Given the description of an element on the screen output the (x, y) to click on. 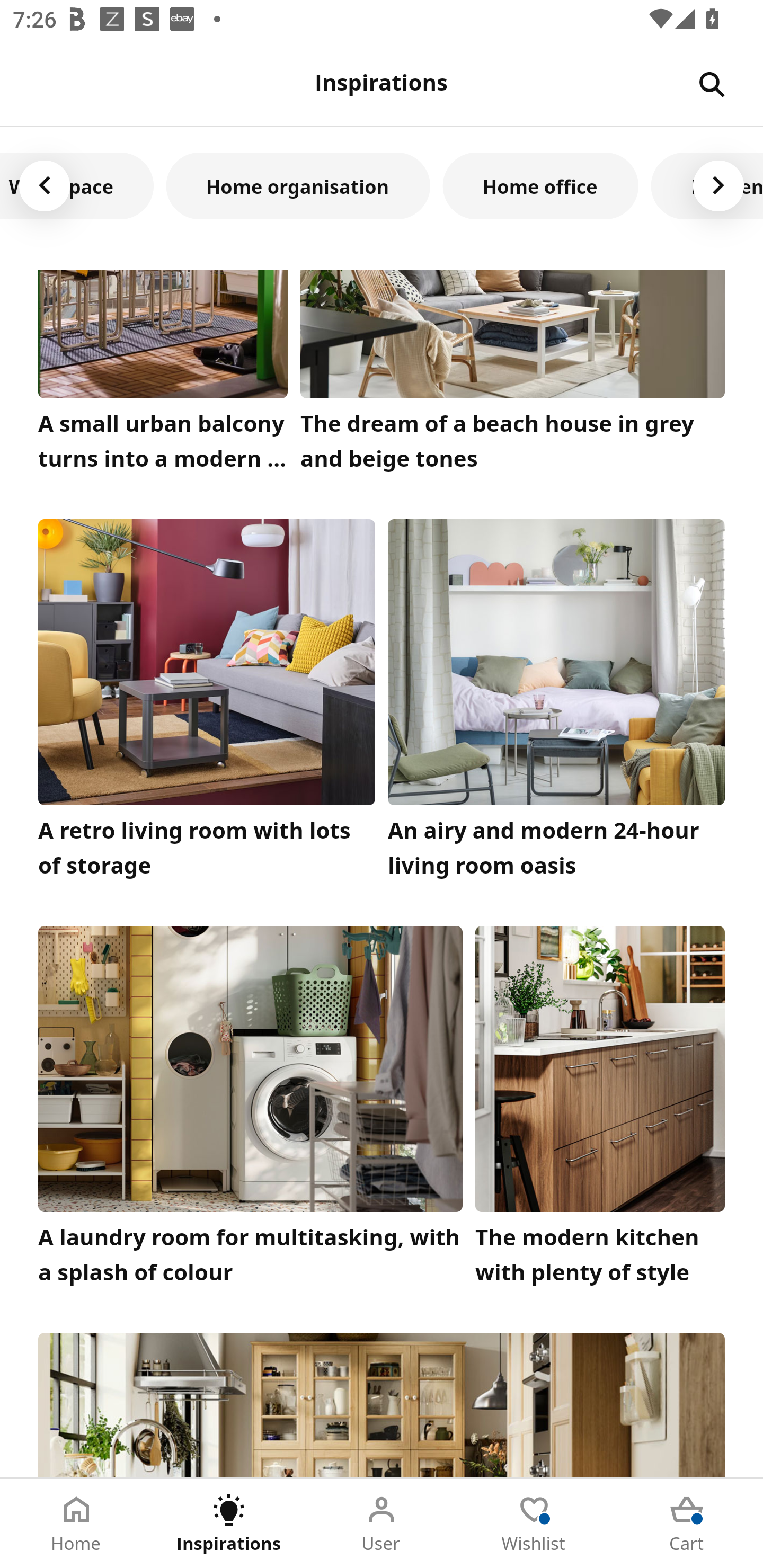
Home organisation (298, 185)
Home office (540, 185)
The dream of a beach house in grey and beige tones (512, 375)
A retro living room with lots of storage (206, 703)
An airy and modern 24-hour living room oasis (555, 703)
The modern kitchen with plenty of style (599, 1110)
Home
Tab 1 of 5 (76, 1522)
Inspirations
Tab 2 of 5 (228, 1522)
User
Tab 3 of 5 (381, 1522)
Wishlist
Tab 4 of 5 (533, 1522)
Cart
Tab 5 of 5 (686, 1522)
